Given the description of an element on the screen output the (x, y) to click on. 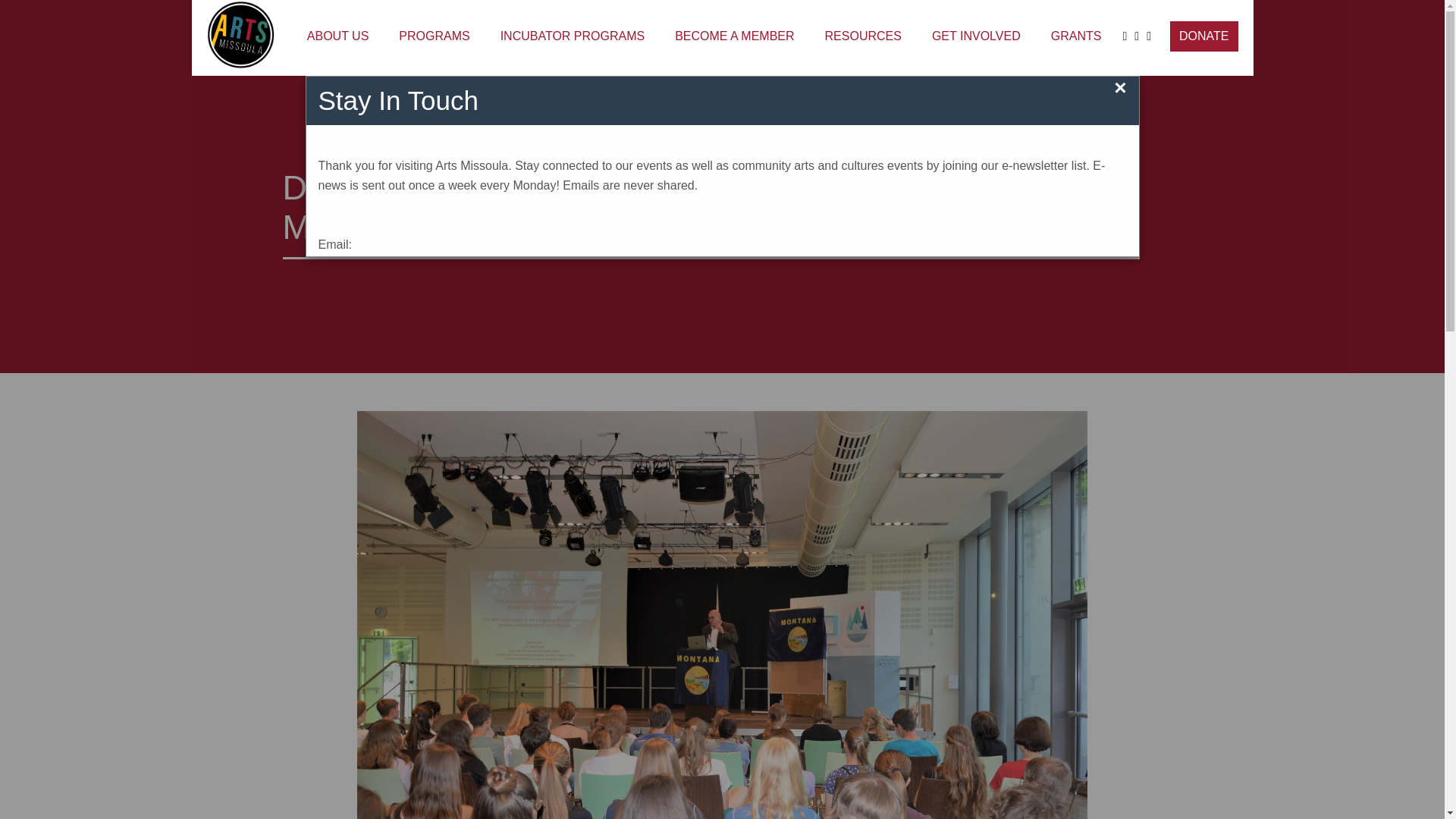
RESOURCES (863, 37)
ABOUT US (338, 37)
BECOME A MEMBER (734, 37)
PROGRAMS (434, 37)
INCUBATOR PROGRAMS (572, 37)
